Given the description of an element on the screen output the (x, y) to click on. 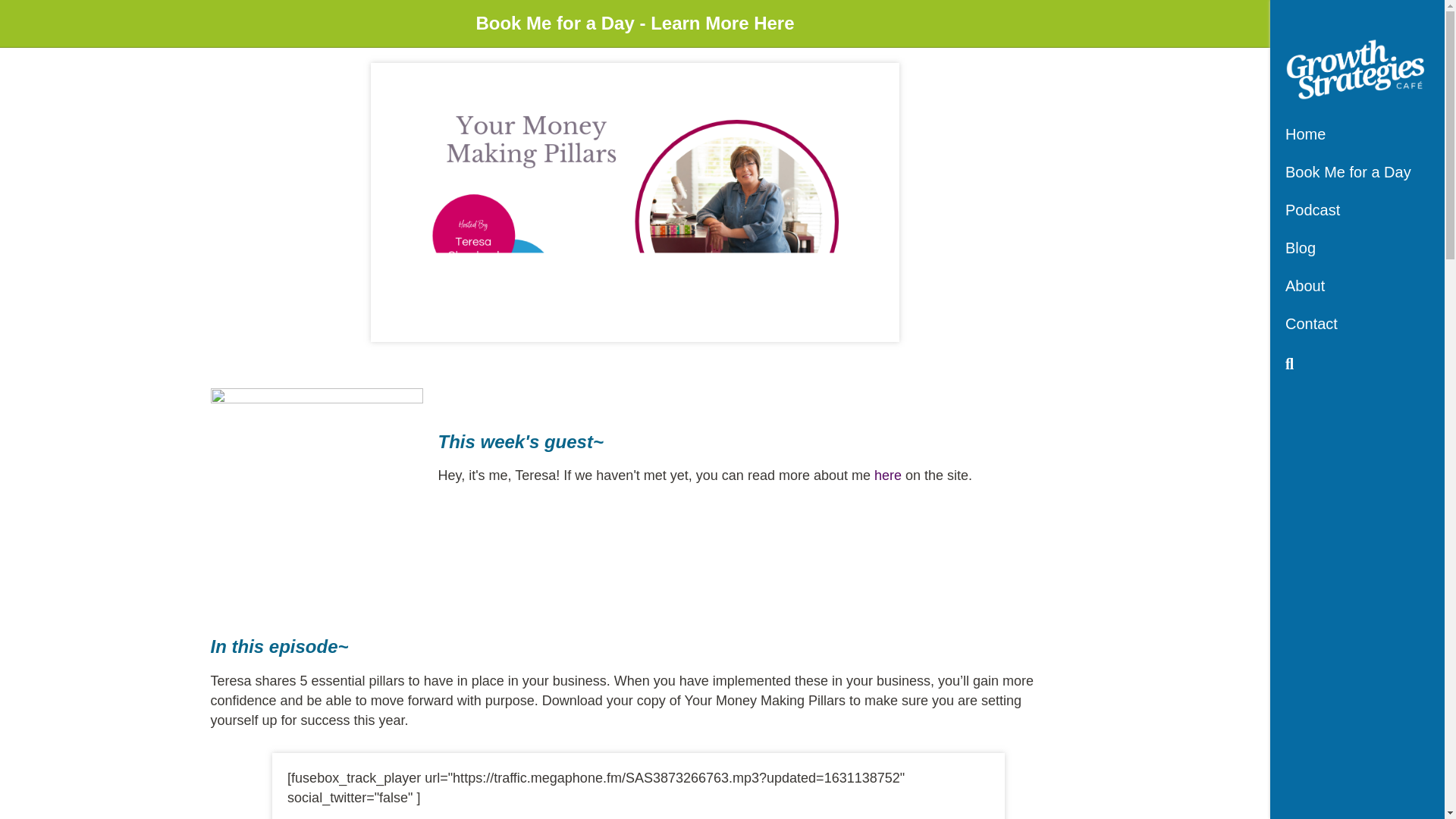
About (1304, 291)
Your Monday Making Pillars Ep11 (634, 201)
Book Me for a Day - Learn More Here (634, 30)
Home (1304, 139)
Podcast (1312, 215)
Blog (1299, 253)
Book Me for a Day (1347, 177)
here (888, 475)
Contact (1310, 328)
